Given the description of an element on the screen output the (x, y) to click on. 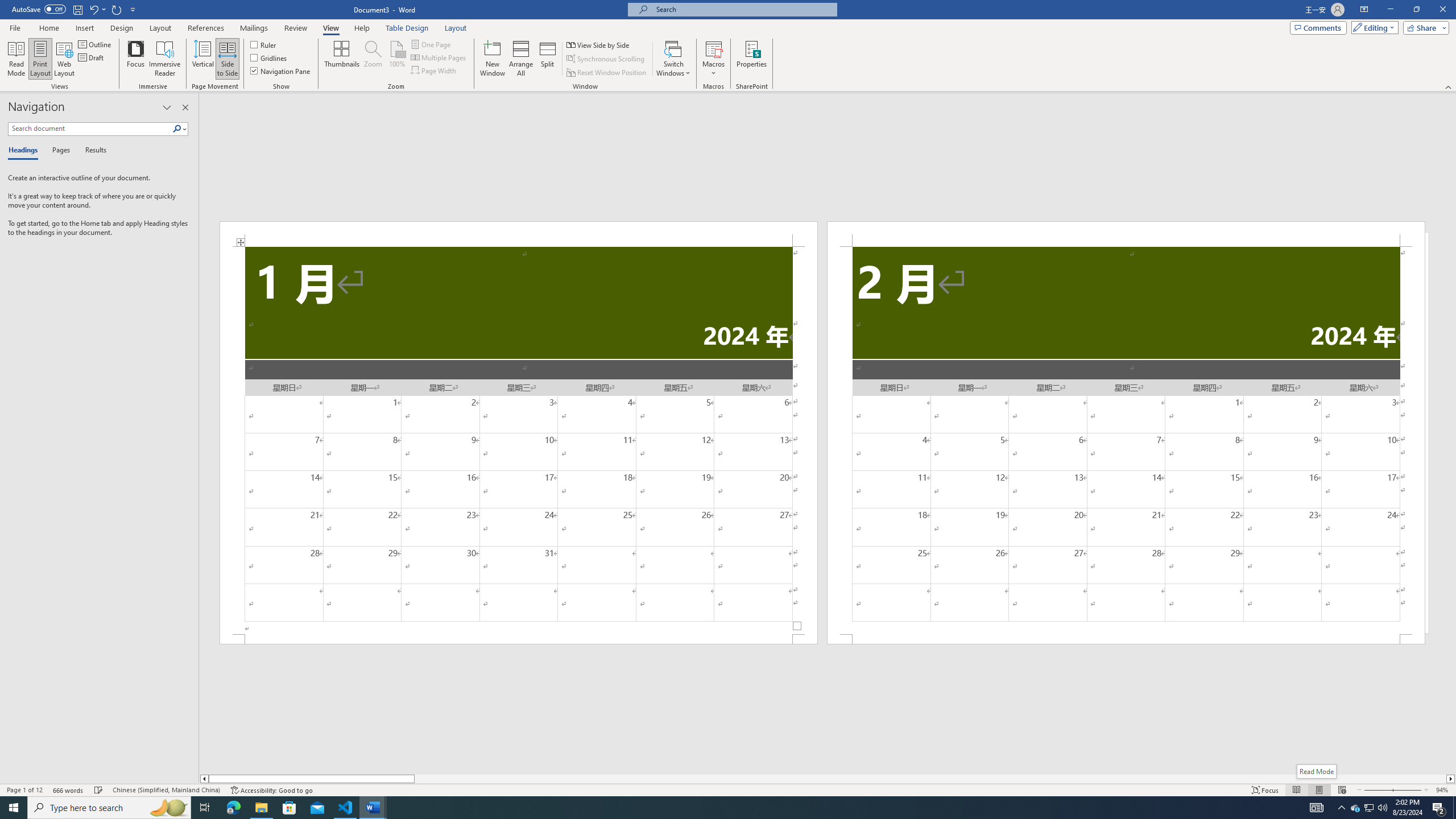
Microsoft search (742, 9)
Table Design (407, 28)
Split (547, 58)
Class: NetUIScrollBar (827, 778)
Column left (203, 778)
Multiple Pages (439, 56)
Spelling and Grammar Check Checking (98, 790)
View Side by Side (598, 44)
